Given the description of an element on the screen output the (x, y) to click on. 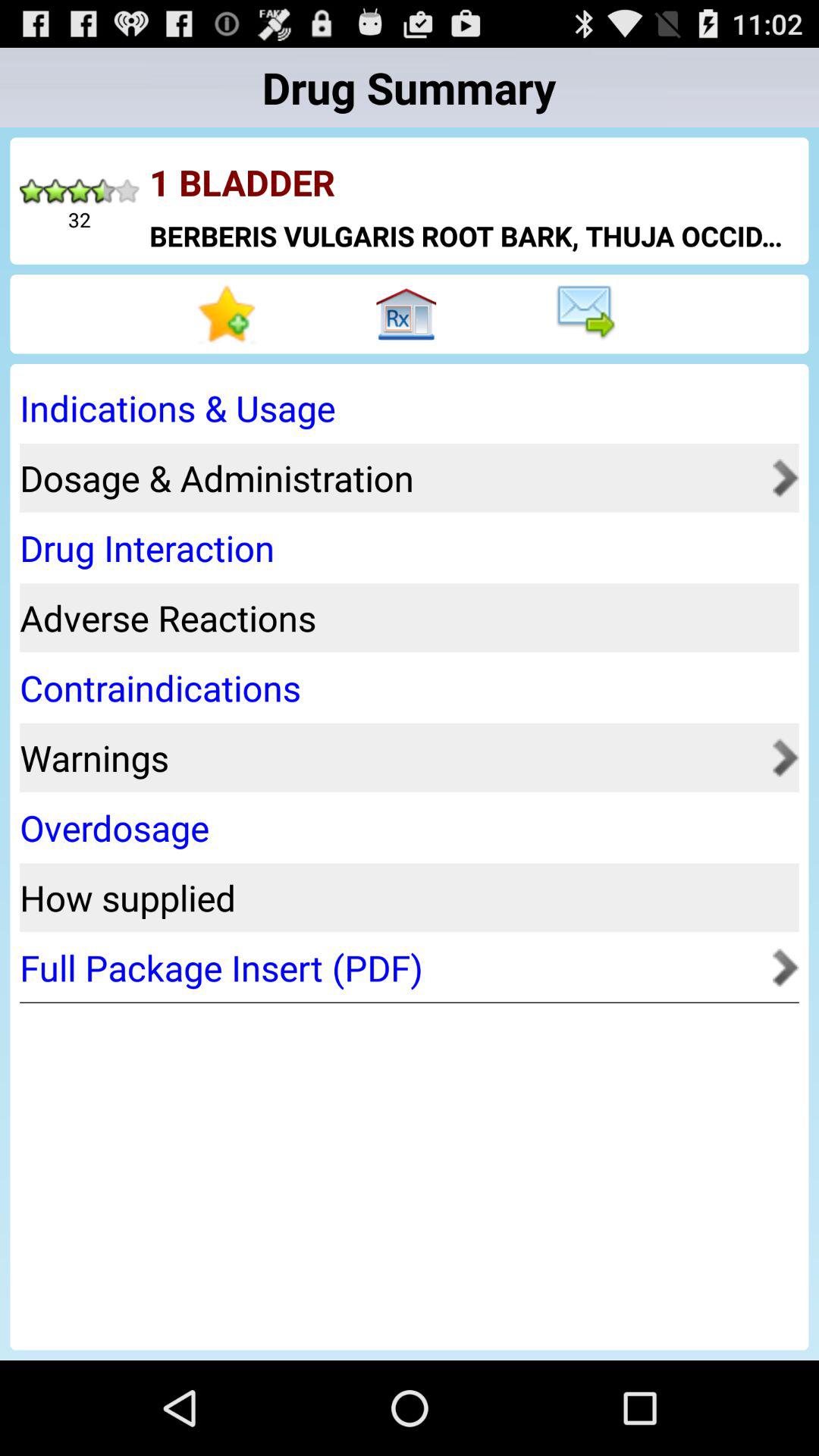
choose adverse reactions icon (403, 617)
